Given the description of an element on the screen output the (x, y) to click on. 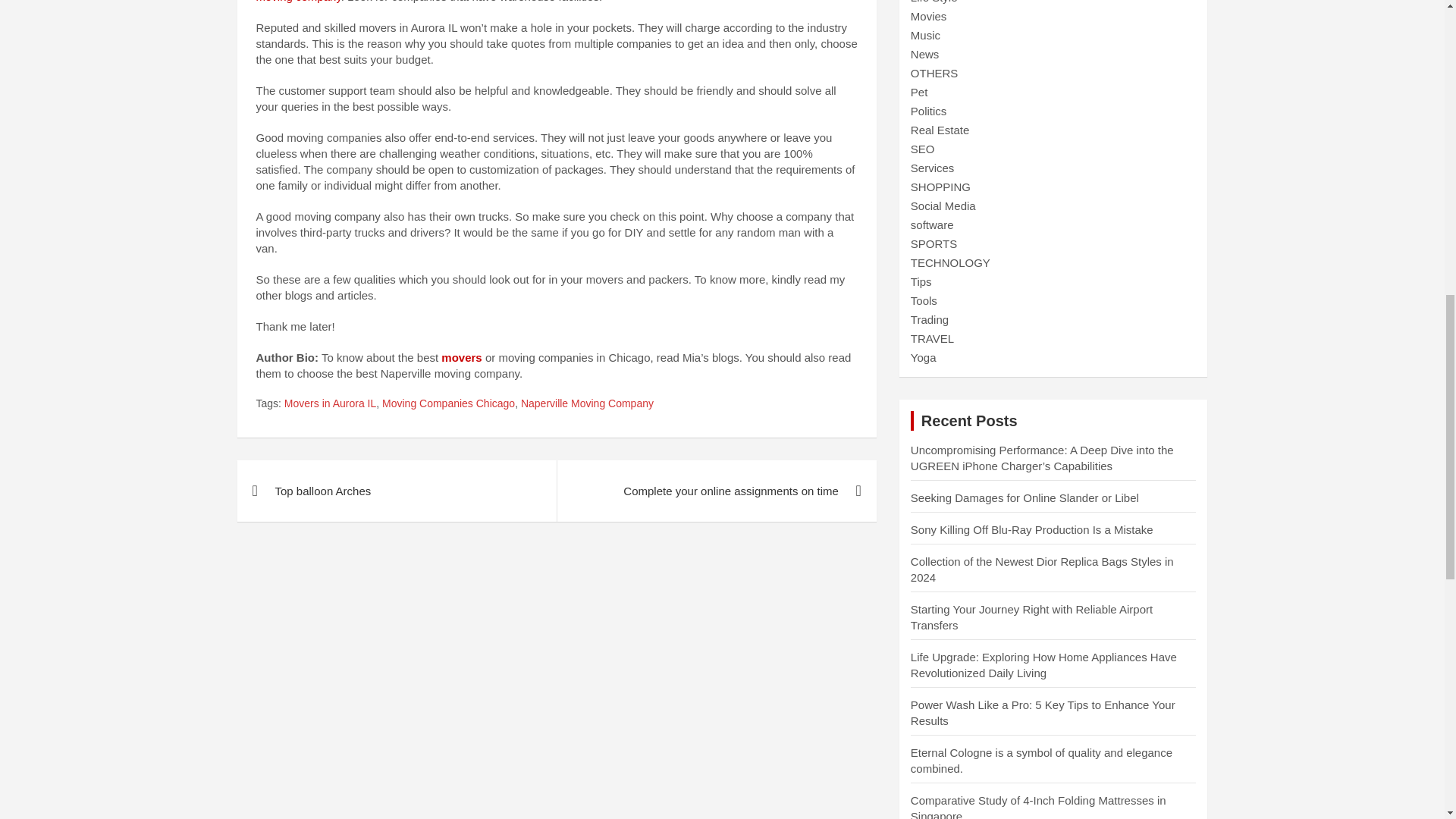
Naperville Moving Company (587, 403)
moving company (298, 1)
Movers in Aurora IL (329, 403)
movers (461, 357)
Top balloon Arches (395, 490)
Moving Companies Chicago (448, 403)
Complete your online assignments on time (716, 490)
